Given the description of an element on the screen output the (x, y) to click on. 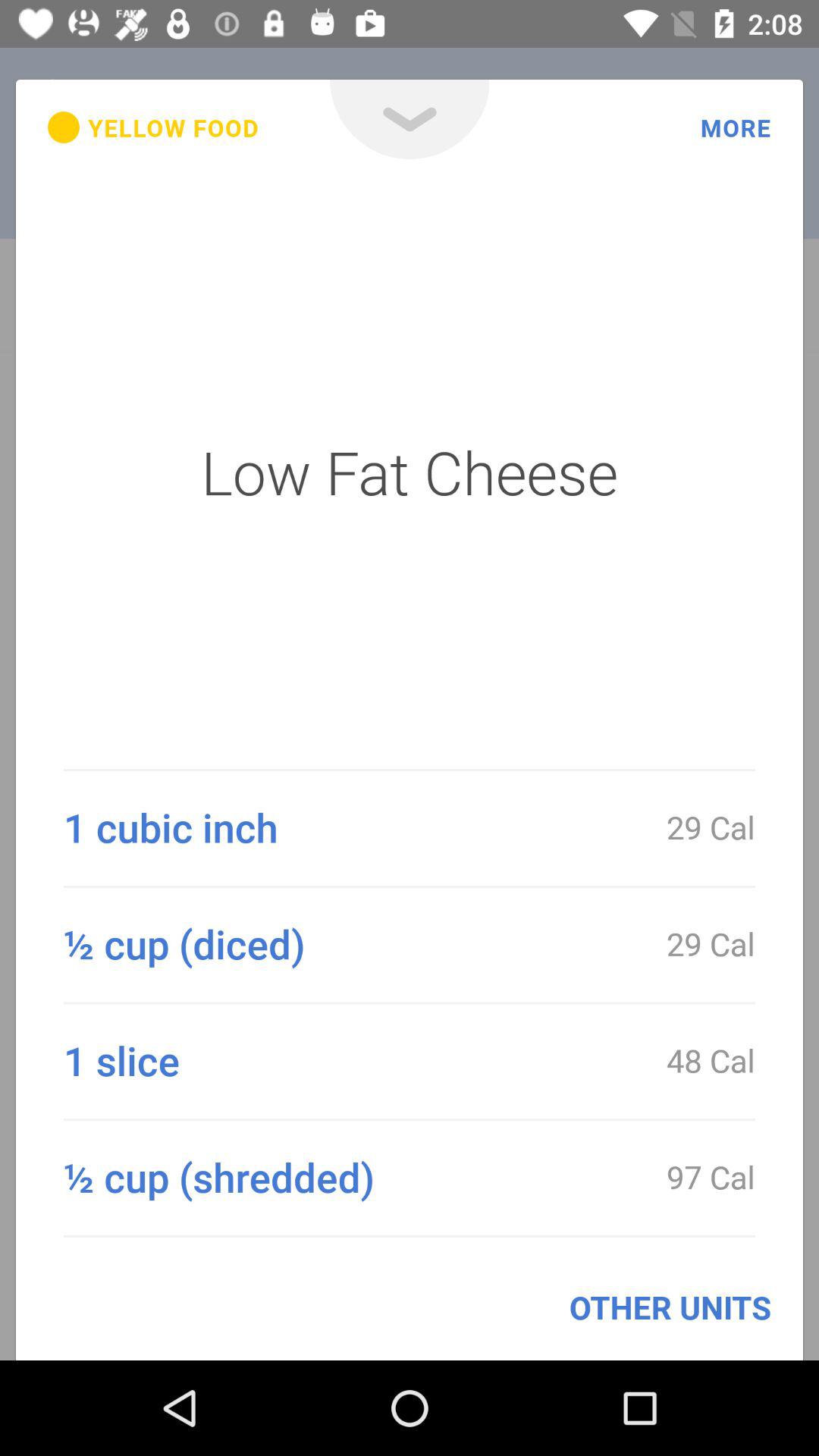
open menu (409, 119)
